Given the description of an element on the screen output the (x, y) to click on. 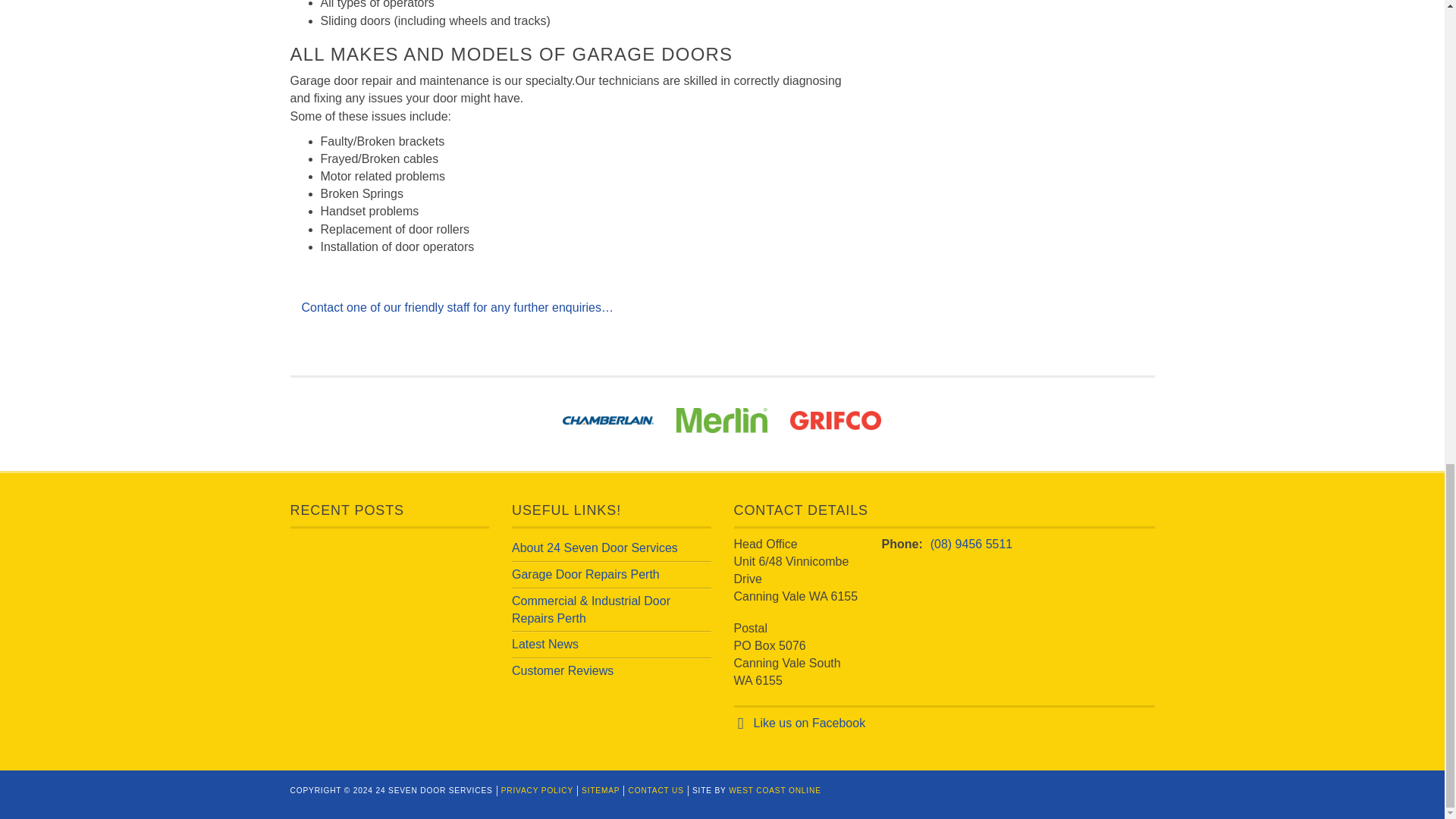
SITEMAP (600, 790)
Like us on Facebook (810, 722)
CONTACT US (654, 790)
PRIVACY POLICY (536, 790)
WEST COAST ONLINE (775, 790)
Customer Reviews (562, 670)
About 24 Seven Door Services (595, 547)
Latest News (545, 644)
Garage Door Repairs Perth (585, 574)
